Given the description of an element on the screen output the (x, y) to click on. 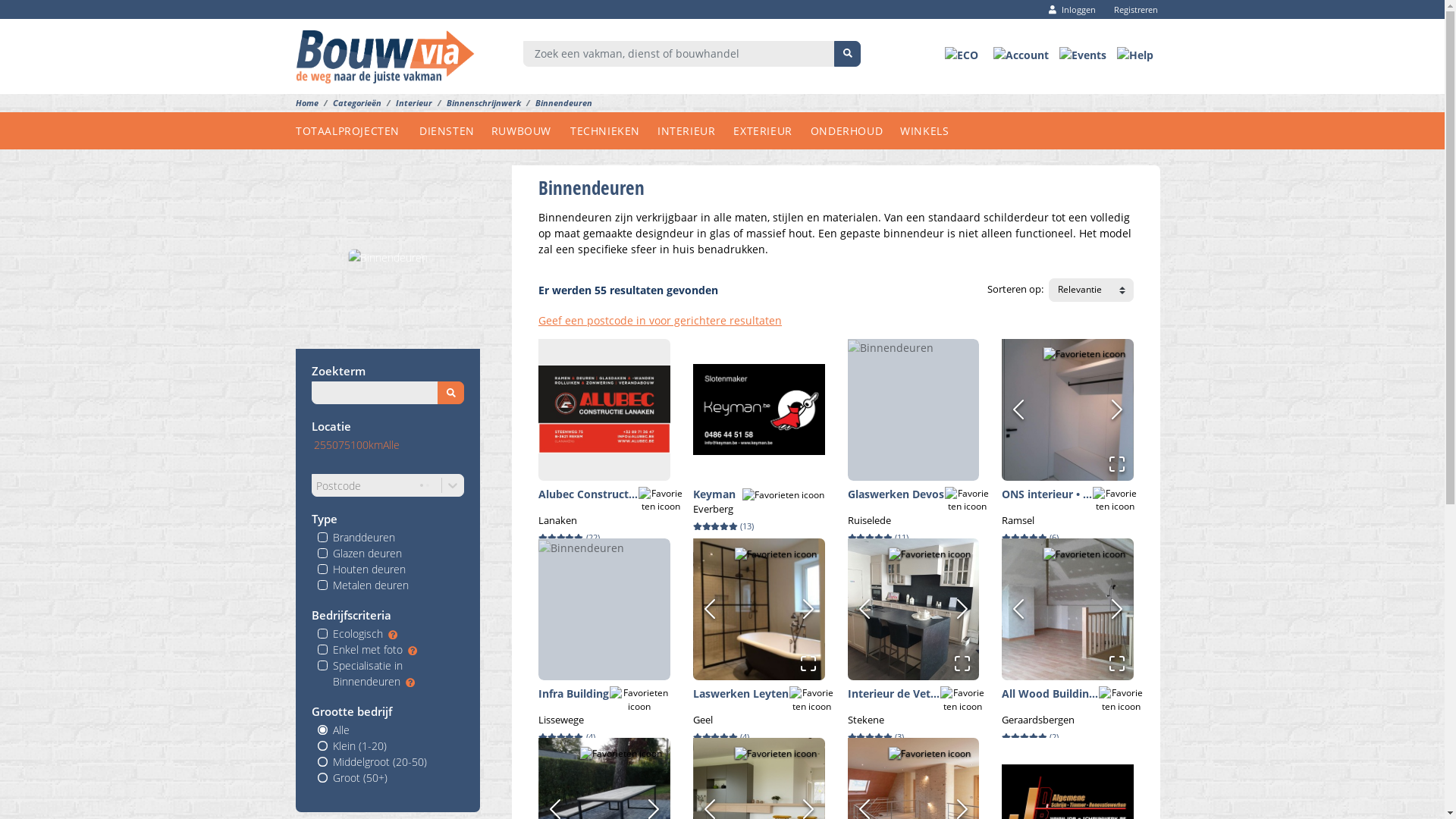
Home Element type: text (306, 103)
Geef een postcode in voor gerichtere resultaten Element type: text (659, 320)
Alubec Construct... Element type: text (587, 493)
DIENSTEN Element type: text (455, 130)
ONDERHOUD Element type: text (855, 130)
Interieur de Vet... Element type: text (893, 693)
EXTERIEUR Element type: text (771, 130)
Infra Building Element type: text (573, 693)
Interieur Element type: text (406, 103)
Registreren Element type: text (1130, 9)
Binnenschrijnwerk Element type: text (476, 103)
Keyman Element type: text (714, 493)
INTERIEUR Element type: text (695, 130)
All Wood Buildin... Element type: text (1049, 693)
Laswerken Leyten Element type: text (740, 693)
RUWBOUW Element type: text (530, 130)
TOTAALPROJECTEN Element type: text (357, 130)
TECHNIEKEN Element type: text (613, 130)
WINKELS Element type: text (933, 130)
Glaswerken Devos Element type: text (895, 493)
Inloggen Element type: text (1072, 9)
